Given the description of an element on the screen output the (x, y) to click on. 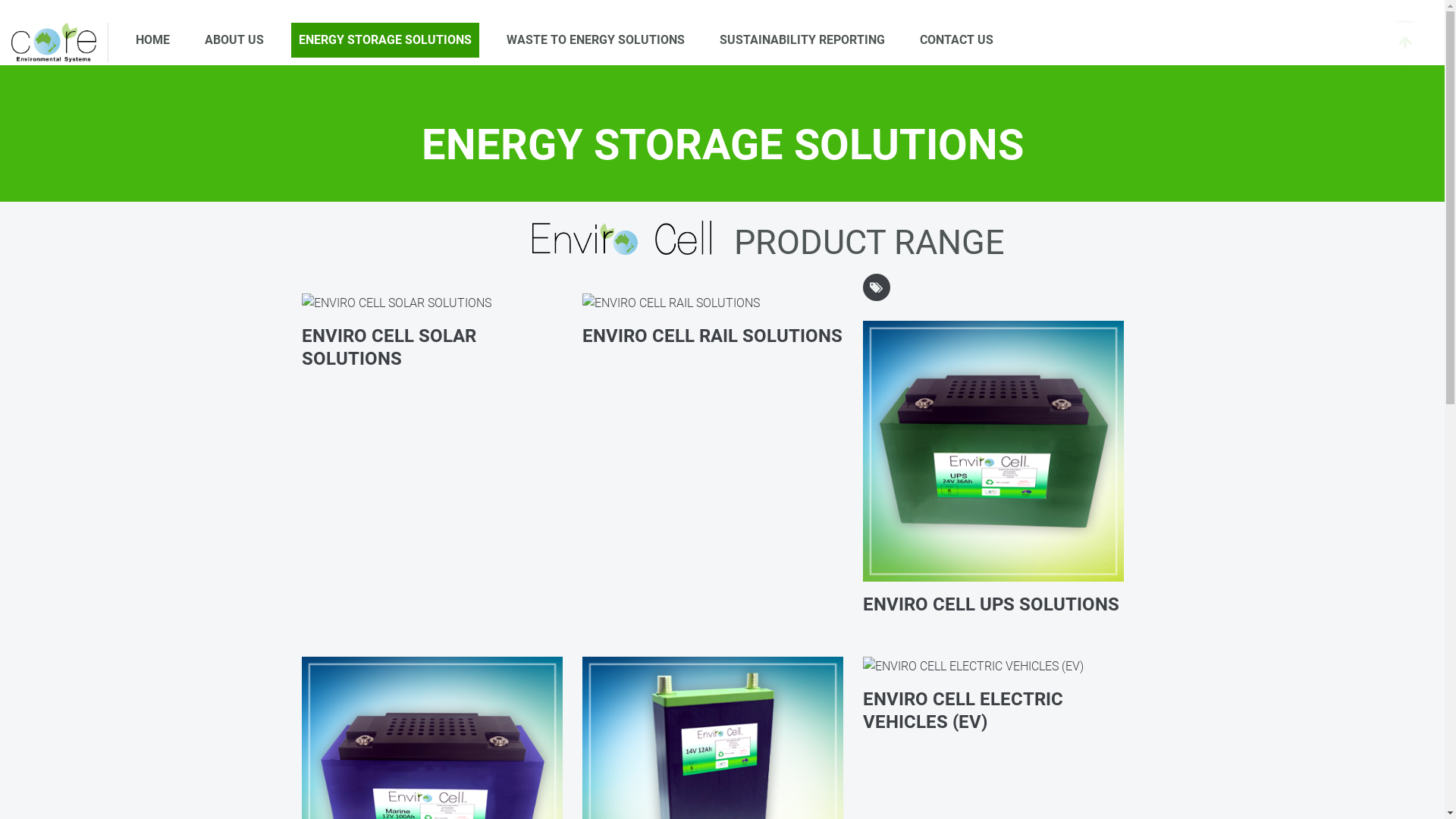
ENVIRO CELL ELECTRIC VEHICLES (EV) Element type: text (992, 710)
ENVIRO CELL RAIL SOLUTIONS Element type: text (712, 336)
Core Environmental Systems Element type: hover (53, 42)
HOME Element type: text (152, 39)
SUSTAINABILITY REPORTING Element type: text (802, 39)
Back to Top Element type: hover (1404, 42)
ENVIRO CELL SOLAR SOLUTIONS Element type: text (431, 347)
ENVIRO CELL UPS SOLUTIONS Element type: text (992, 605)
CONTACT US Element type: text (956, 39)
ENERGY STORAGE SOLUTIONS Element type: text (385, 39)
ABOUT US Element type: text (234, 39)
WASTE TO ENERGY SOLUTIONS Element type: text (595, 39)
